Given the description of an element on the screen output the (x, y) to click on. 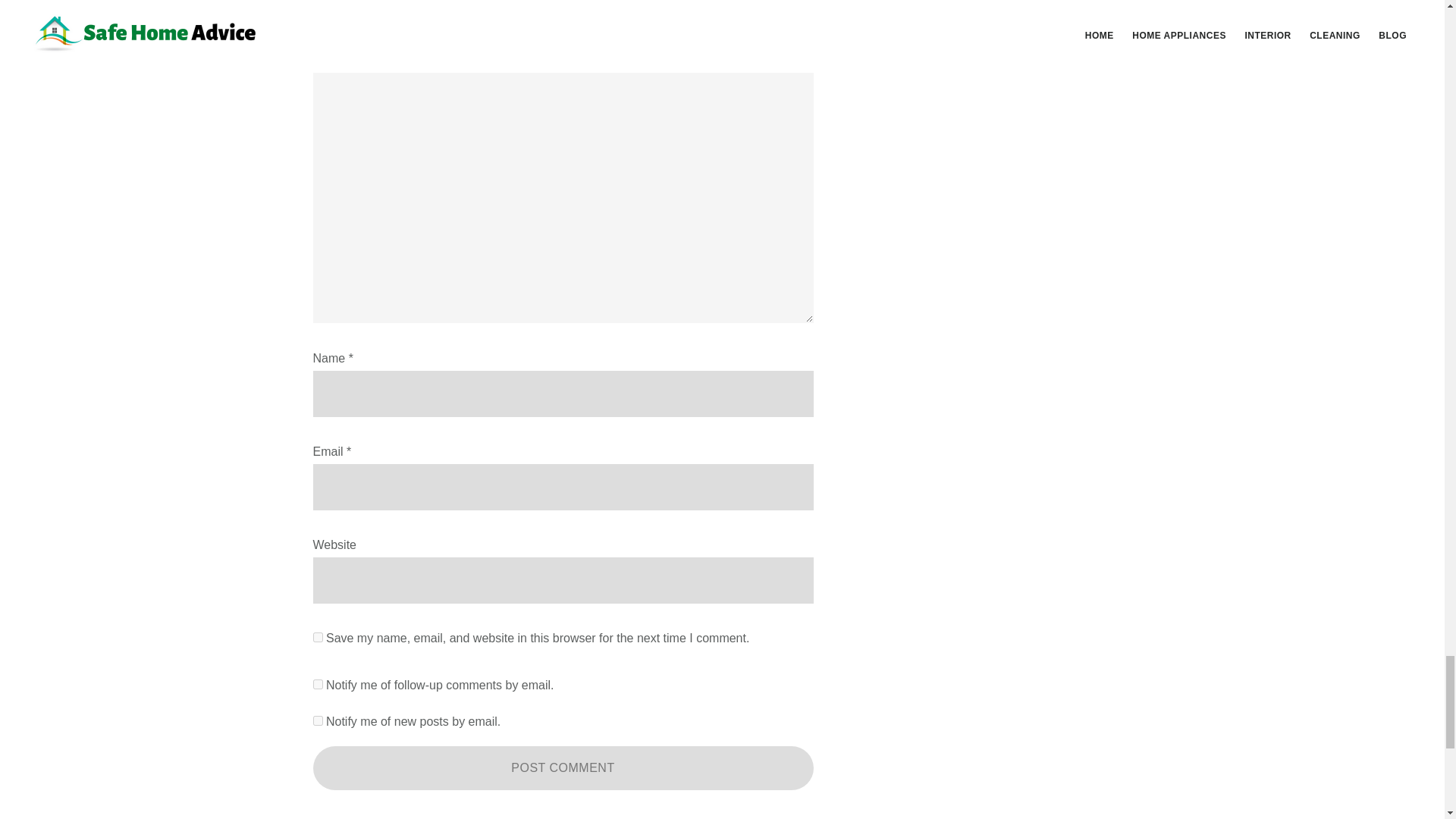
subscribe (317, 684)
subscribe (317, 720)
Post Comment (562, 768)
yes (317, 637)
